Given the description of an element on the screen output the (x, y) to click on. 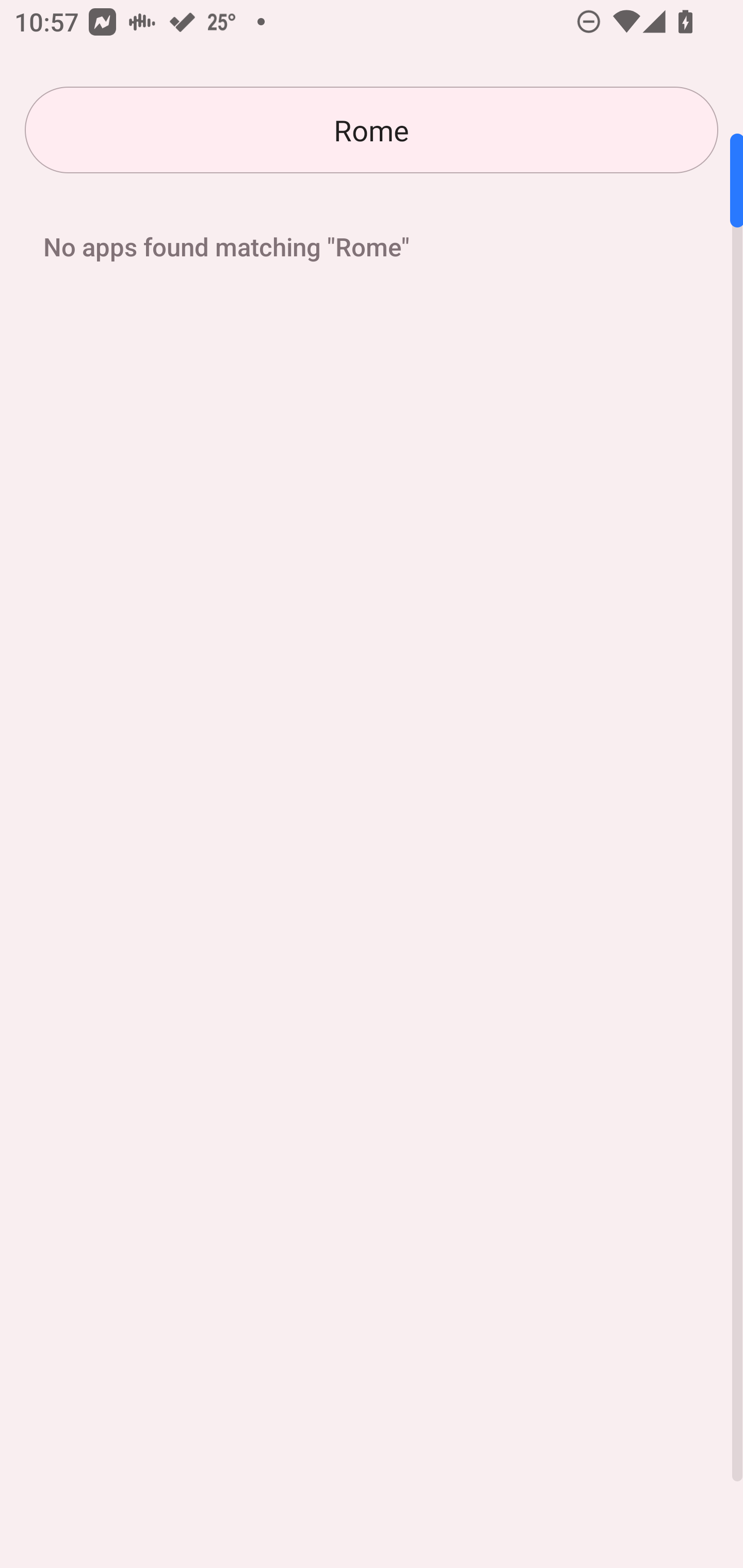
Rome (371, 130)
